Given the description of an element on the screen output the (x, y) to click on. 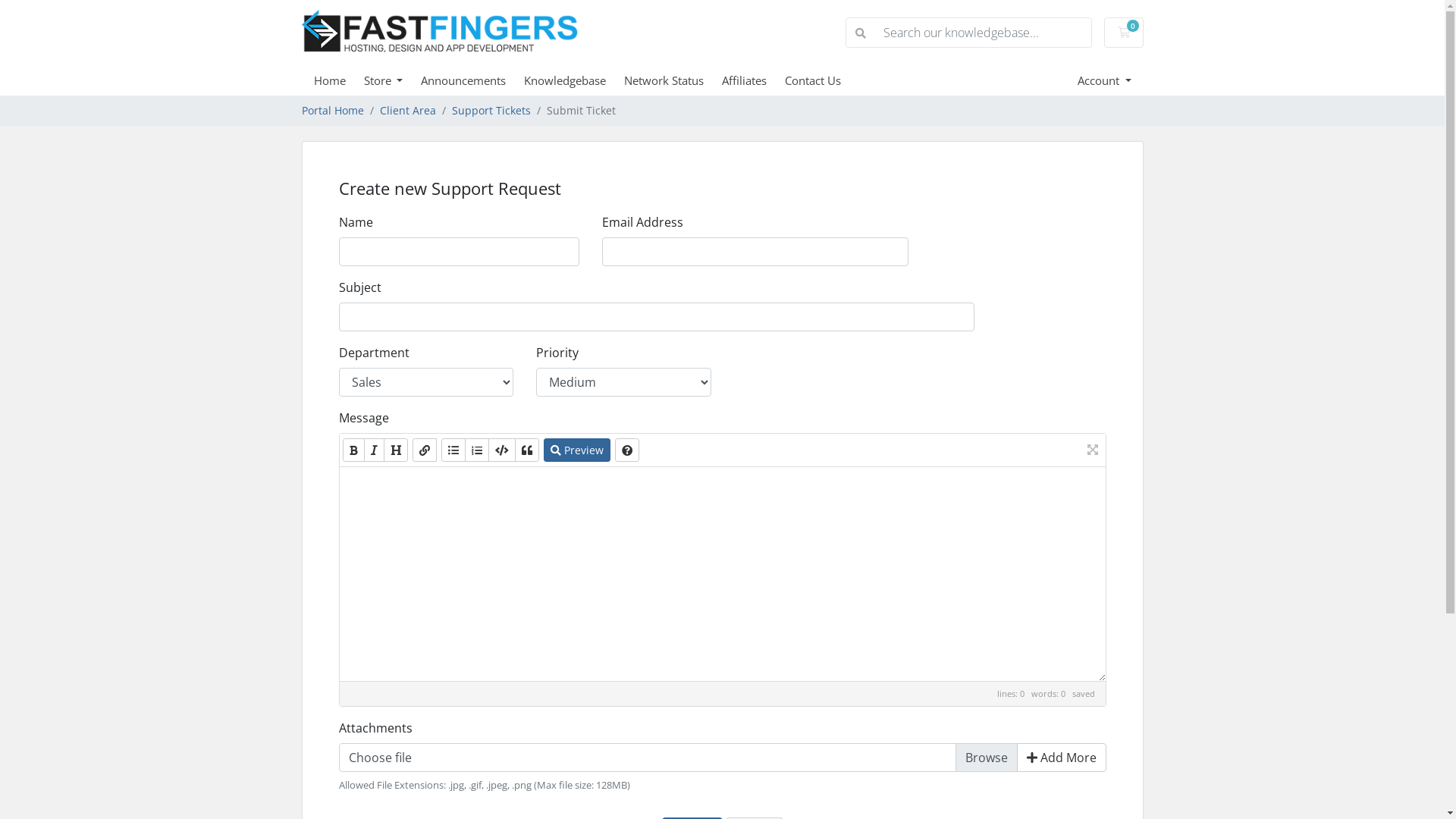
Bold Element type: hover (353, 449)
Add More Element type: text (1060, 757)
Affiliates Element type: text (752, 79)
Heading Element type: hover (395, 449)
Quote Element type: hover (526, 449)
Network Status Element type: text (672, 79)
Store Element type: text (392, 79)
Italic Element type: hover (374, 449)
Support Tickets Element type: text (490, 110)
Announcements Element type: text (472, 79)
Ordered List Element type: hover (476, 449)
0
Shopping Cart Element type: text (1123, 32)
Knowledgebase Element type: text (574, 79)
Code Element type: hover (501, 449)
Contact Us Element type: text (821, 79)
Account Element type: text (1104, 79)
Home Element type: text (338, 79)
Unordered List Element type: hover (453, 449)
Preview Element type: text (575, 449)
Portal Home Element type: text (332, 110)
Help Element type: hover (626, 449)
URL/Link Element type: hover (424, 449)
Client Area Element type: text (407, 110)
